Given the description of an element on the screen output the (x, y) to click on. 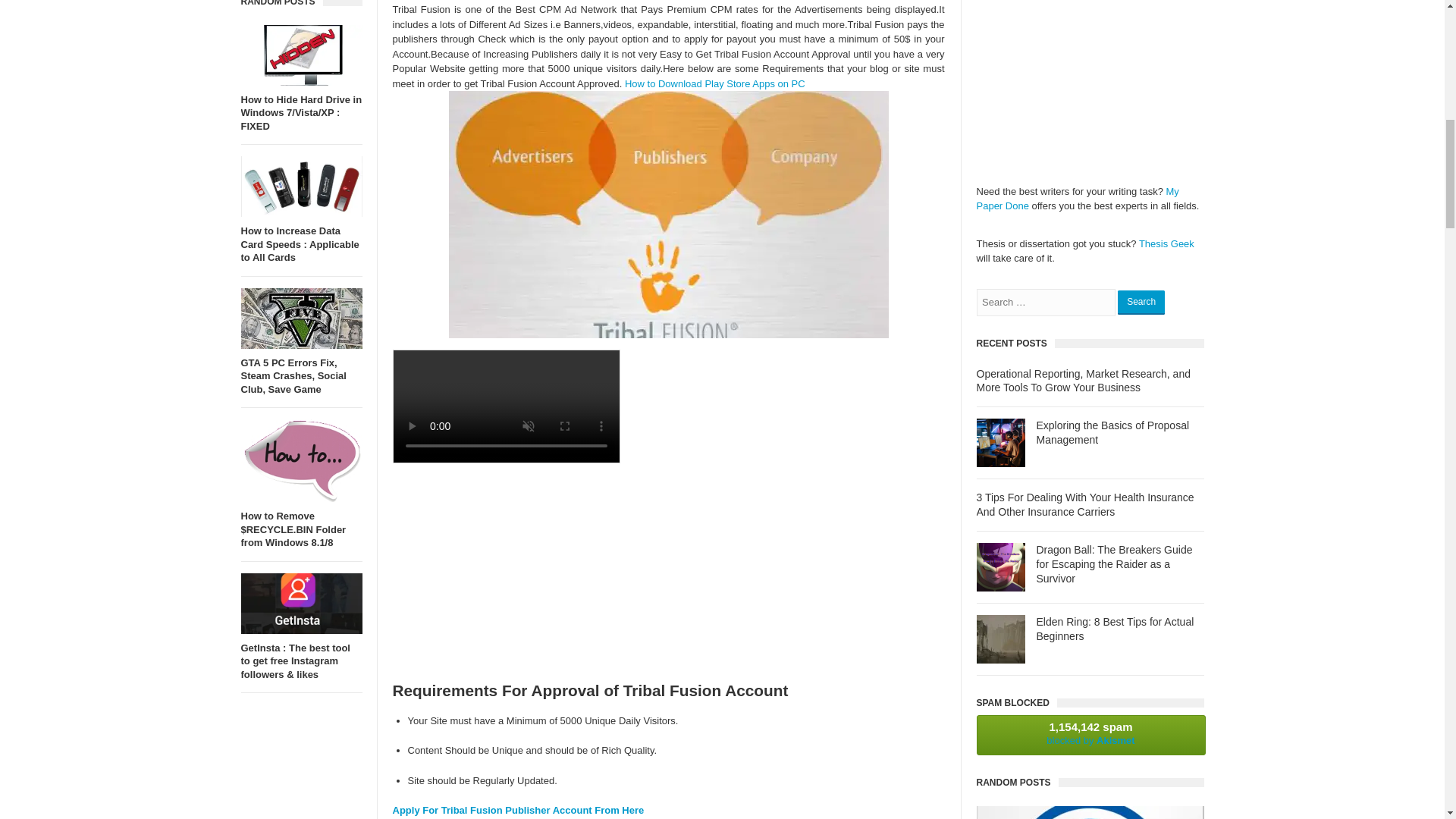
How to Download Play Store Apps on PC (714, 83)
Advertisement (668, 565)
Apply For Tribal Fusion Publisher Account From Here (519, 809)
